Given the description of an element on the screen output the (x, y) to click on. 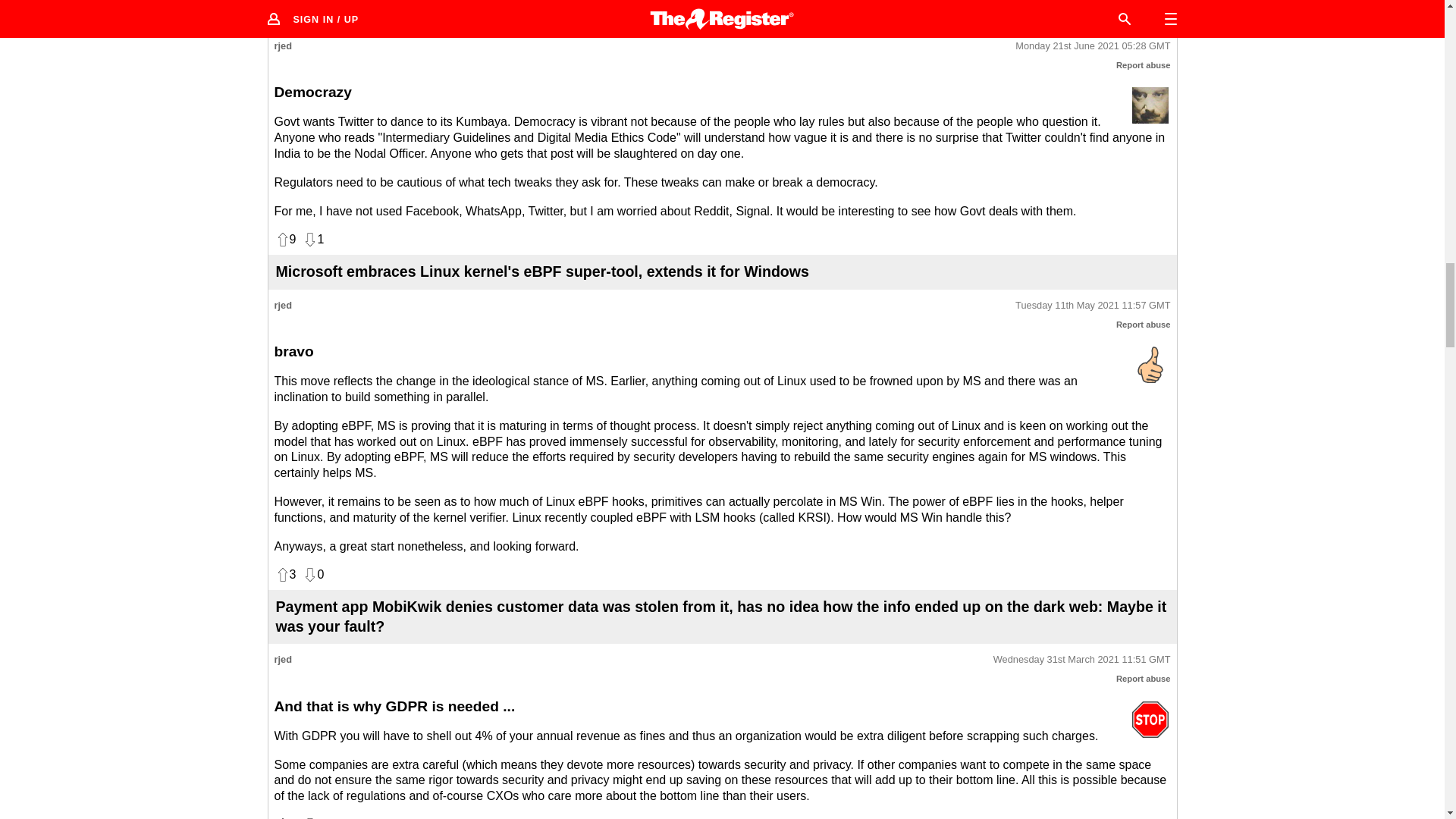
Report abuse (1143, 678)
Report abuse (1143, 324)
Report abuse (1143, 64)
